Given the description of an element on the screen output the (x, y) to click on. 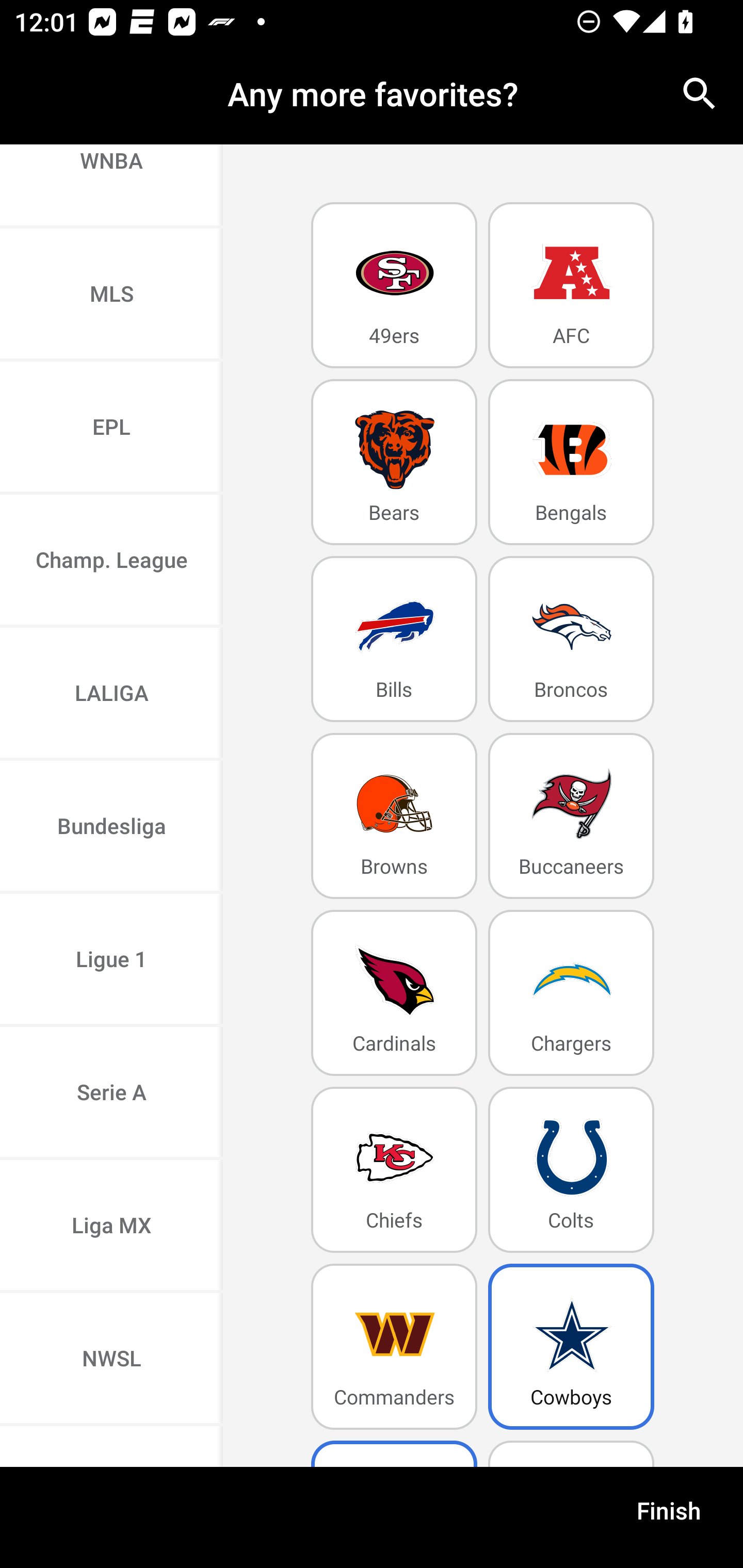
search (699, 93)
WNBA (111, 186)
49ers (394, 285)
AFC (571, 285)
MLS (111, 295)
EPL (111, 428)
Bears (394, 462)
Bengals (571, 462)
Champ. League (111, 560)
Bills (394, 639)
Broncos (571, 639)
LALIGA (111, 694)
Browns (394, 815)
Buccaneers (571, 815)
Bundesliga (111, 826)
Ligue 1 (111, 960)
Cardinals (394, 992)
Chargers (571, 992)
Serie A (111, 1093)
Chiefs (394, 1169)
Colts (571, 1169)
Liga MX (111, 1226)
Commanders (394, 1346)
Cowboys CowboysSelected (571, 1346)
NWSL (111, 1359)
Finish Finish and Close (669, 1517)
